Given the description of an element on the screen output the (x, y) to click on. 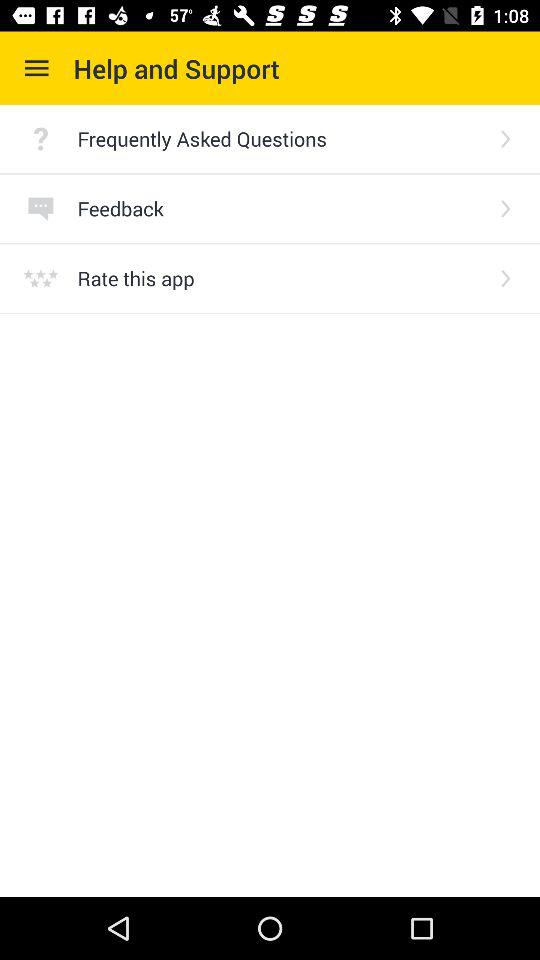
turn off feedback item (280, 208)
